Given the description of an element on the screen output the (x, y) to click on. 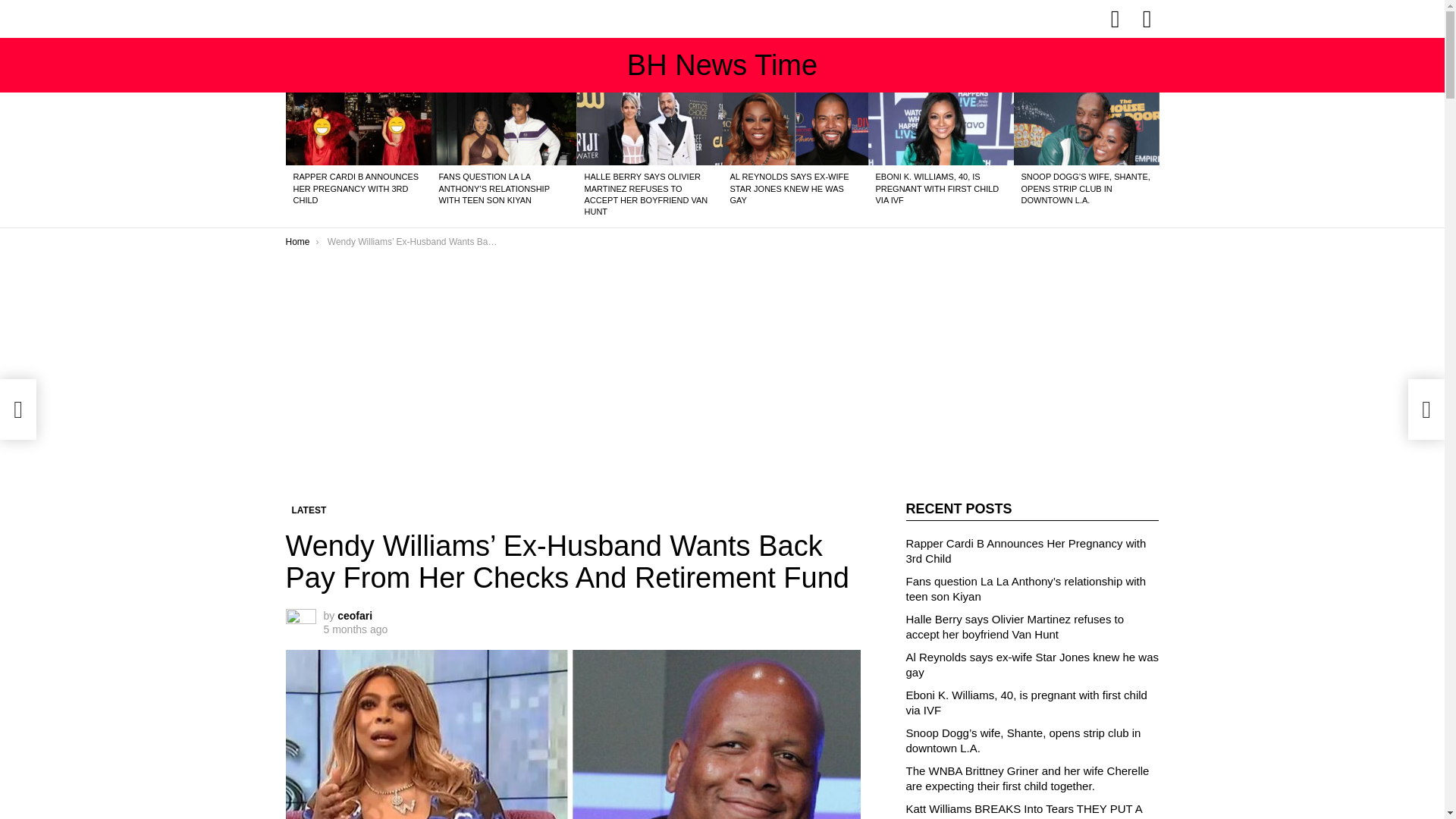
BH News Time (721, 65)
Posts by ceofari (354, 615)
ceofari (354, 615)
Rapper Cardi B Announces Her Pregnancy with 3rd Child (357, 128)
Eboni K. Williams, 40, is pregnant with first child via IVF (940, 128)
Home (296, 241)
EBONI K. WILLIAMS, 40, IS PREGNANT WITH FIRST CHILD VIA IVF (936, 187)
AL REYNOLDS SAYS EX-WIFE STAR JONES KNEW HE WAS GAY (788, 187)
